Given the description of an element on the screen output the (x, y) to click on. 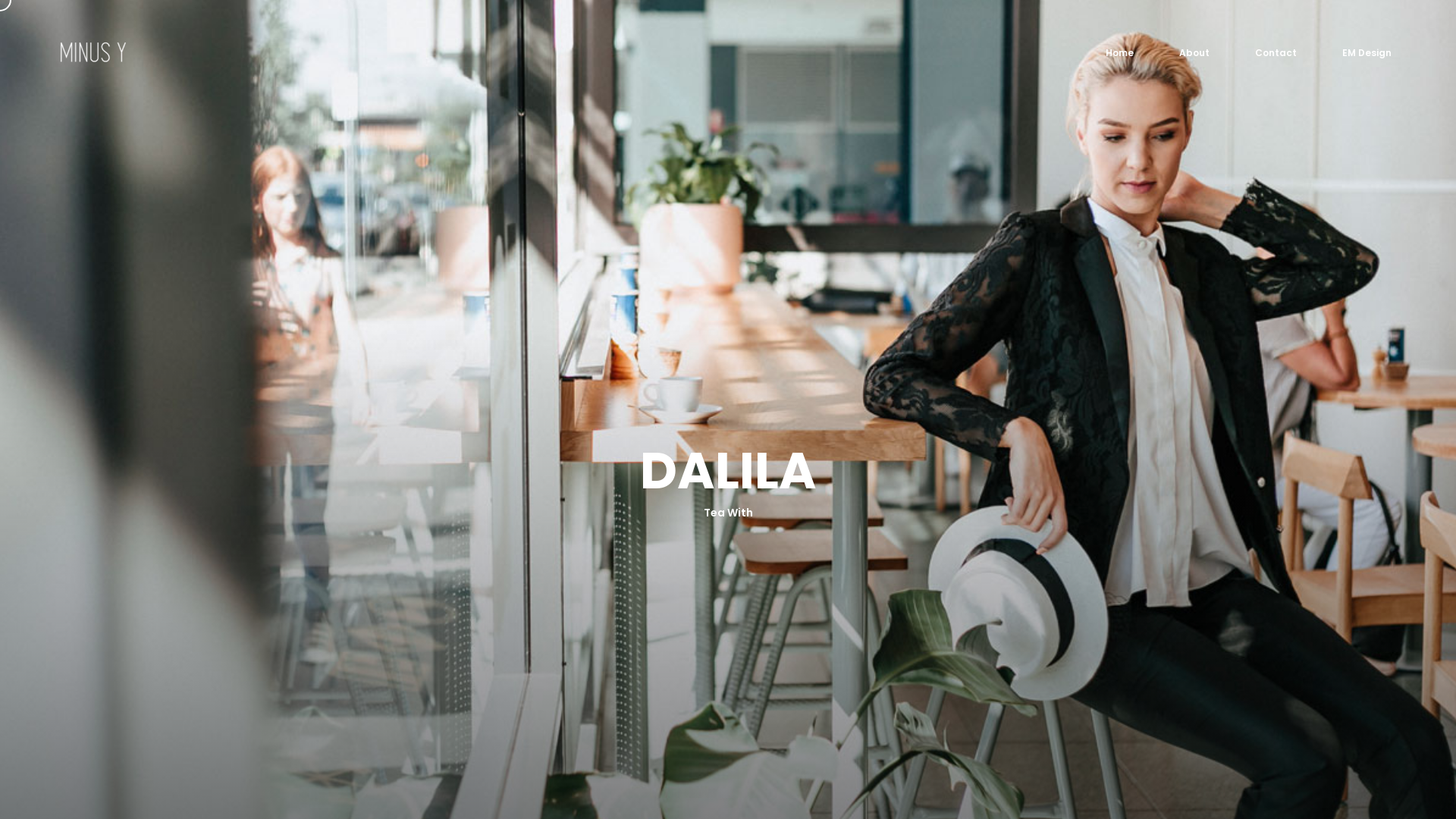
Home Element type: text (1119, 52)
About Element type: text (1194, 52)
Contact Element type: text (1275, 52)
EM Design Element type: text (1366, 52)
